Given the description of an element on the screen output the (x, y) to click on. 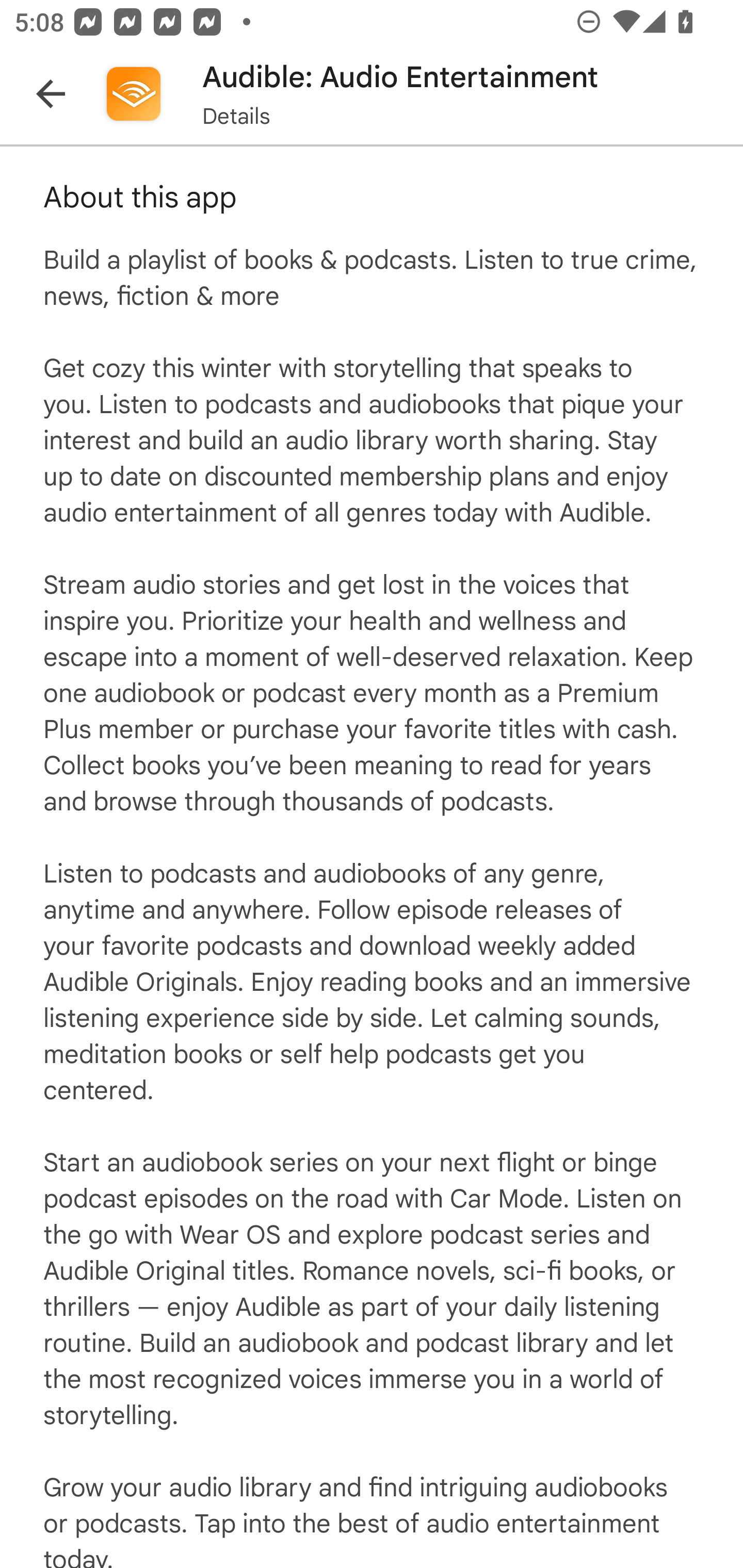
Navigate up (50, 93)
